Given the description of an element on the screen output the (x, y) to click on. 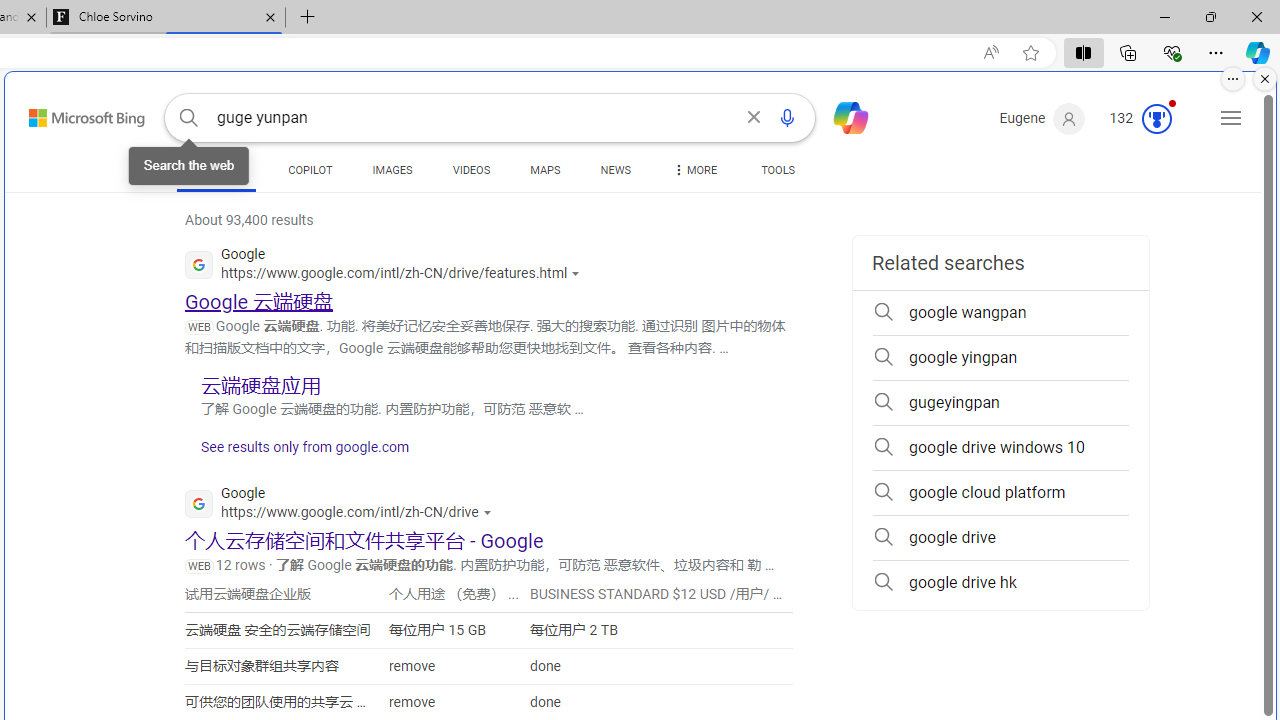
TOOLS (777, 173)
google cloud platform (1000, 492)
Dropdown Menu (693, 170)
Back to Bing search (74, 113)
Search button (188, 117)
TOOLS (777, 170)
gugeyingpan (1000, 402)
IMAGES (392, 170)
Class: medal-svg-animation (1156, 118)
See results only from google.com (297, 452)
